Given the description of an element on the screen output the (x, y) to click on. 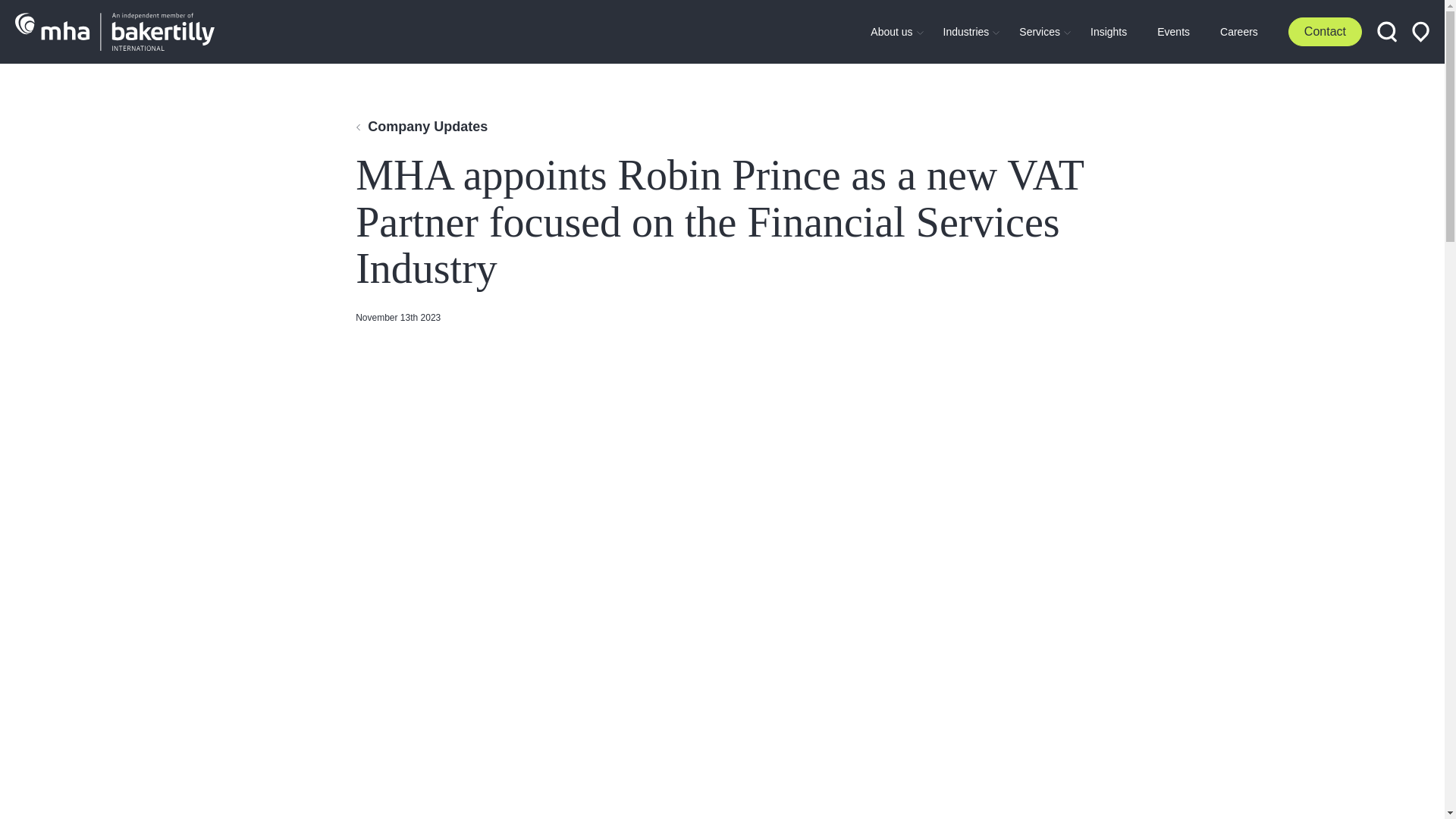
About us (1079, 31)
Industries (891, 31)
